Given the description of an element on the screen output the (x, y) to click on. 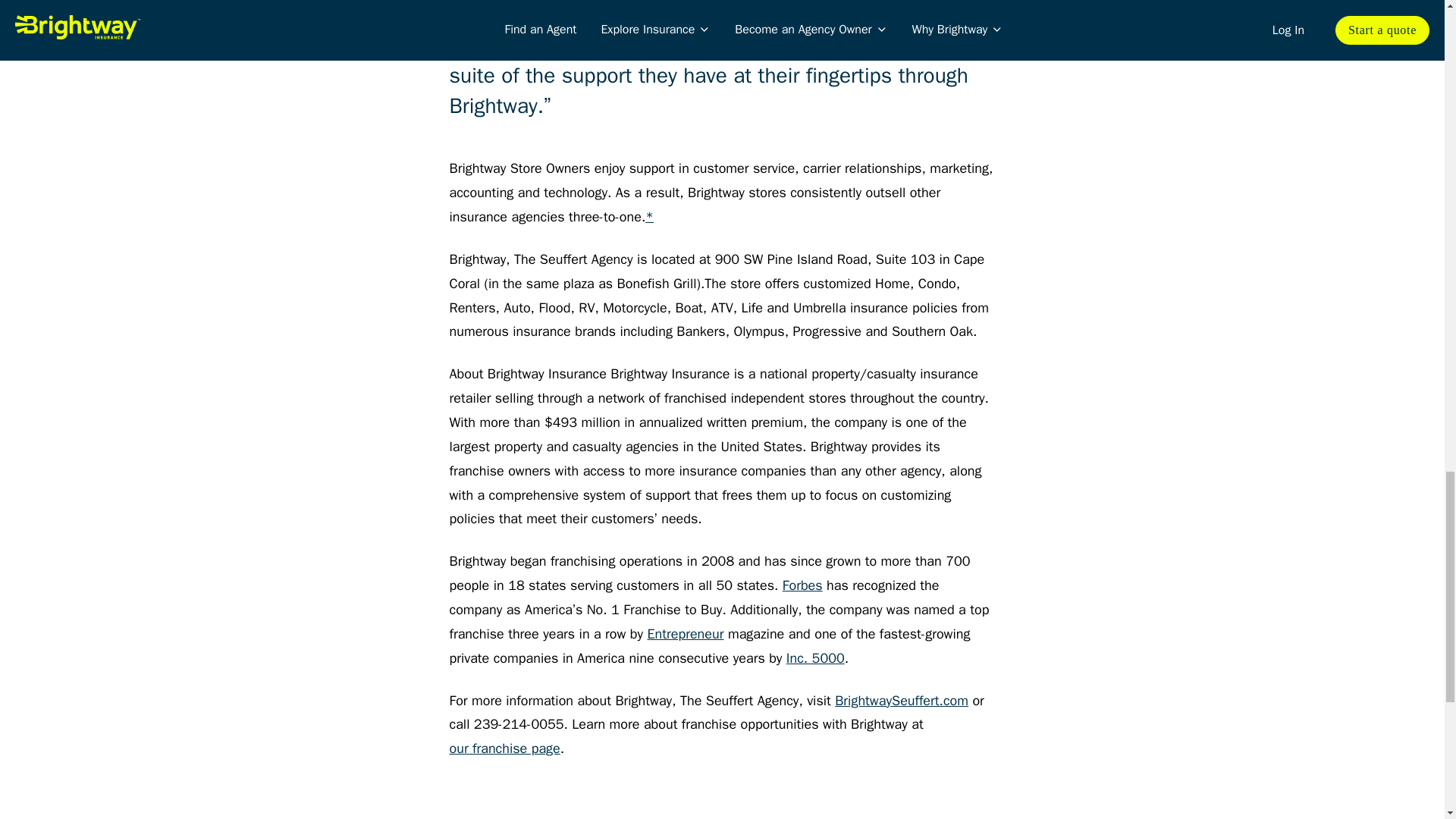
our franchise page (503, 749)
Entrepreneur (684, 634)
BrightwaySeuffert.com (901, 701)
Inc. 5000 (815, 658)
Forbes (802, 586)
